Given the description of an element on the screen output the (x, y) to click on. 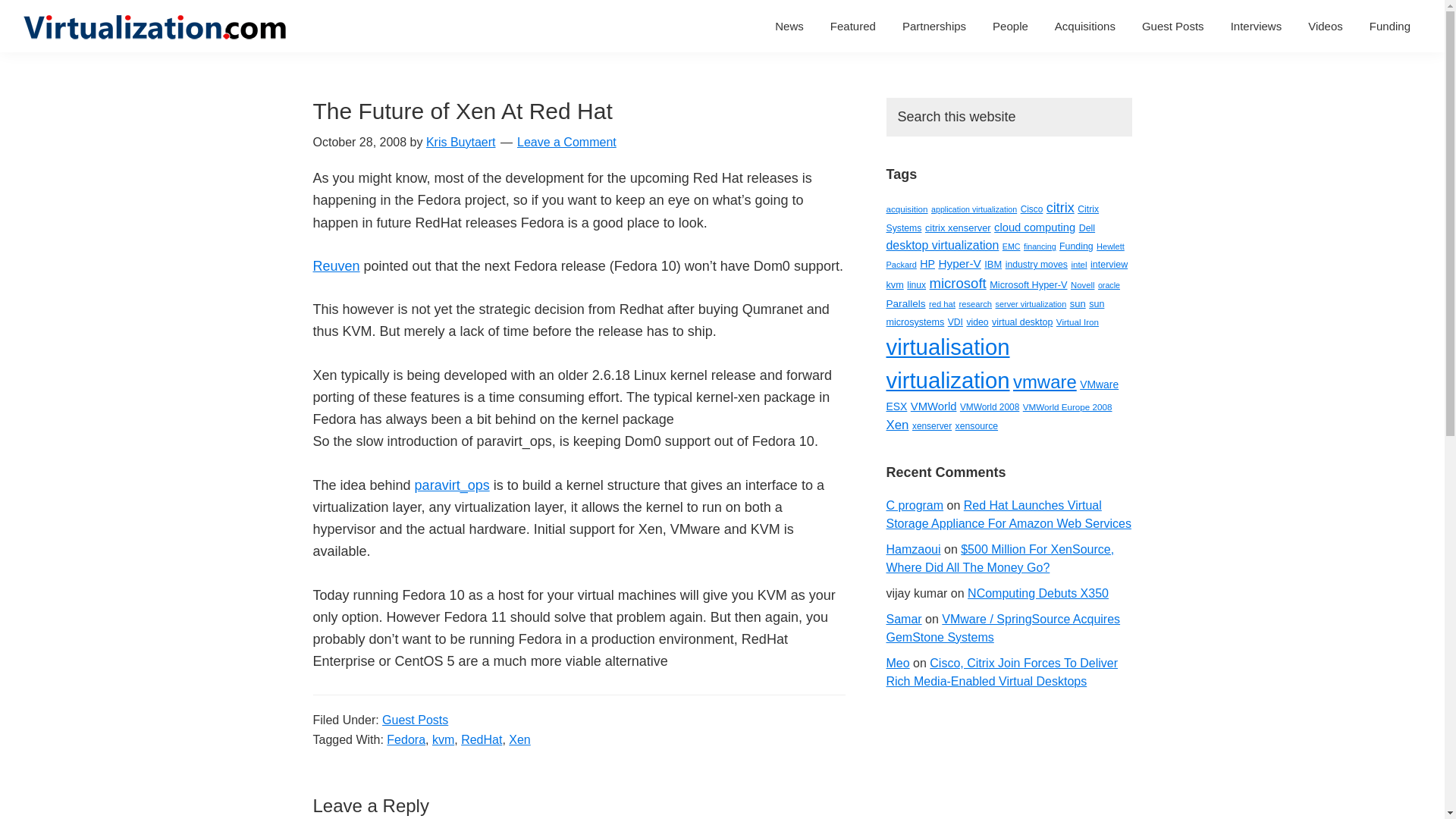
News (788, 25)
Interviews (1257, 25)
Funding (1390, 25)
Leave a Comment (565, 141)
cloud computing (1034, 227)
Videos (1325, 25)
Xen (518, 738)
Fedora (406, 738)
Guest Posts (1173, 25)
